Given the description of an element on the screen output the (x, y) to click on. 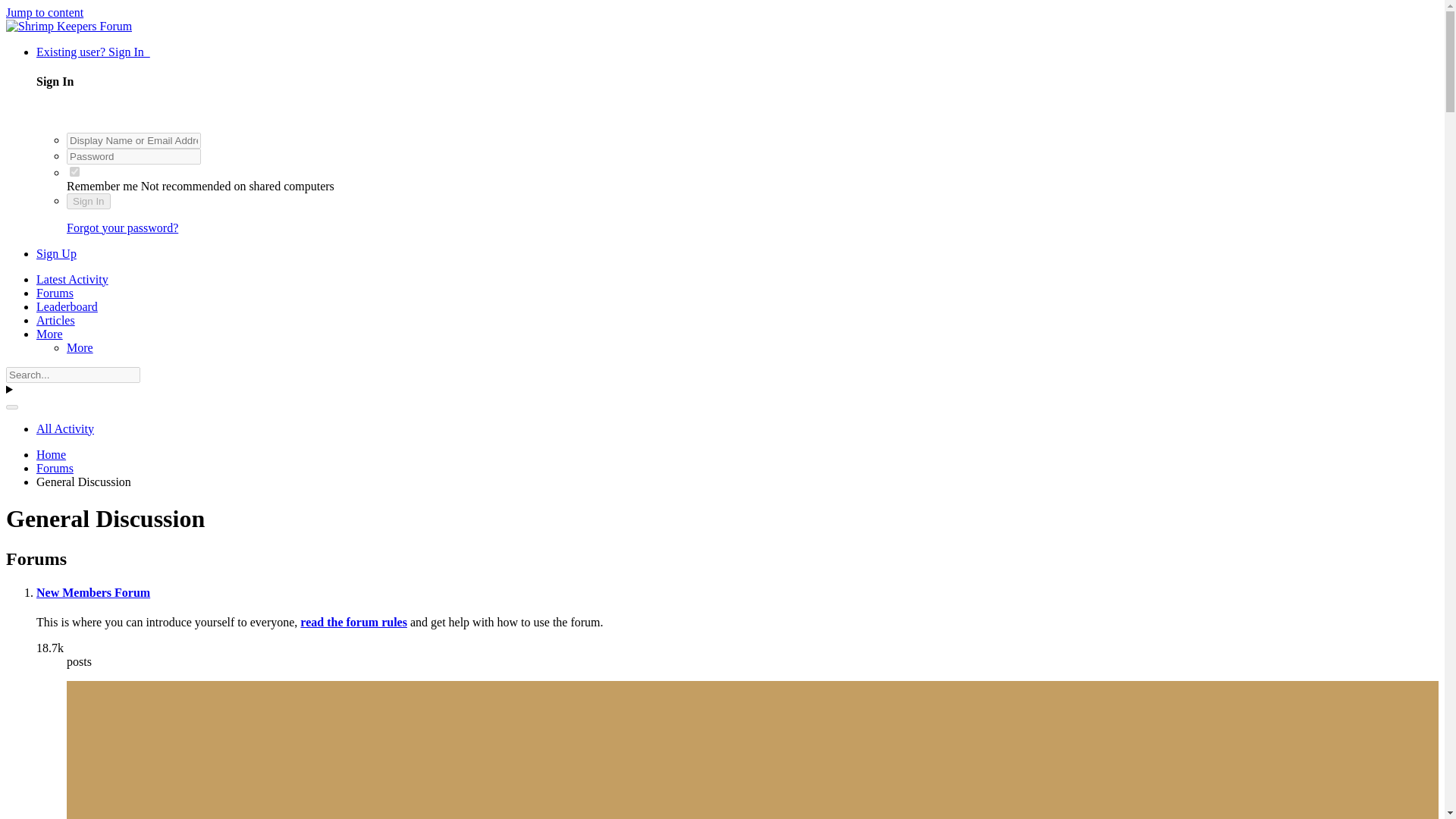
Existing user? Sign In   (92, 51)
Sign In (88, 201)
Sign Up (56, 253)
Leaderboard (66, 306)
More (79, 347)
1 (74, 171)
Forgot your password? (121, 227)
All Activity (65, 428)
Forums (55, 468)
Home (50, 454)
